Given the description of an element on the screen output the (x, y) to click on. 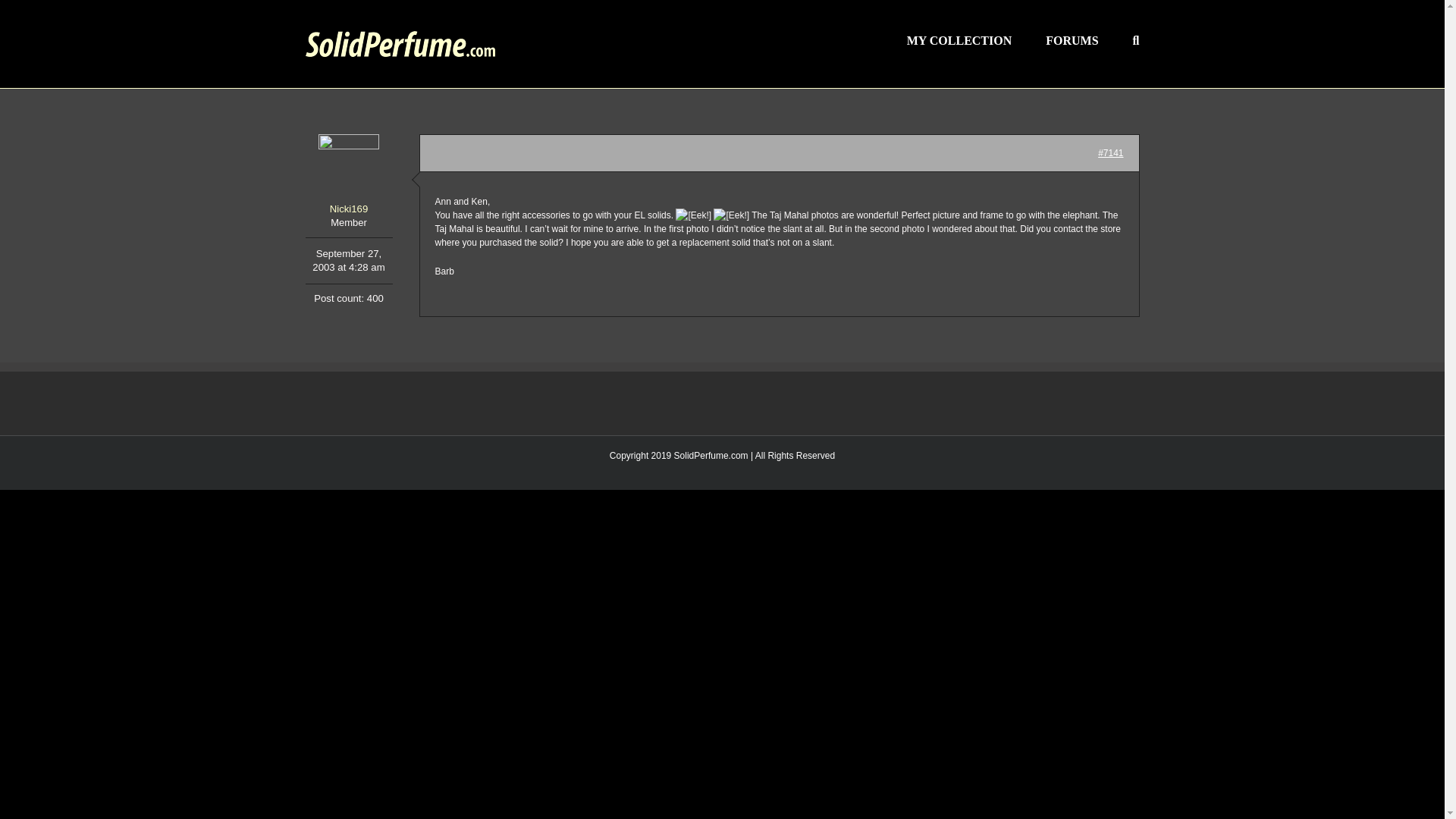
View Nicki169's profile (347, 175)
MY COLLECTION (959, 39)
Nicki169 (347, 175)
